Given the description of an element on the screen output the (x, y) to click on. 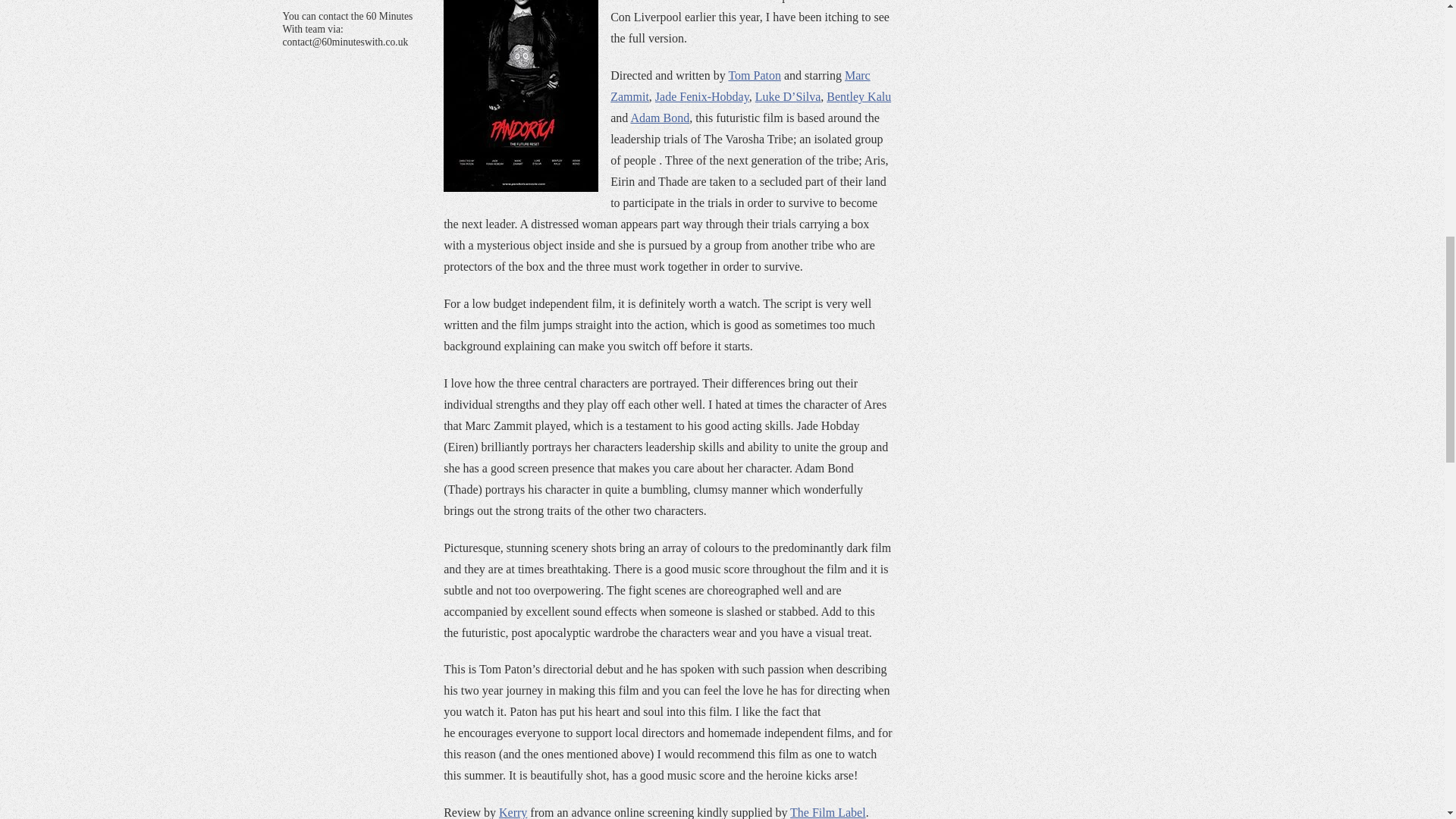
Marc Zammit (740, 85)
Marc Zammit (740, 85)
Jade Hobday (702, 96)
Bentley Kalu (859, 96)
Adam Bond (659, 117)
Luke D'Silva (788, 96)
Kerry (513, 812)
Tom Paton (754, 74)
The Film Label (828, 812)
Tom Paton (754, 74)
